Given the description of an element on the screen output the (x, y) to click on. 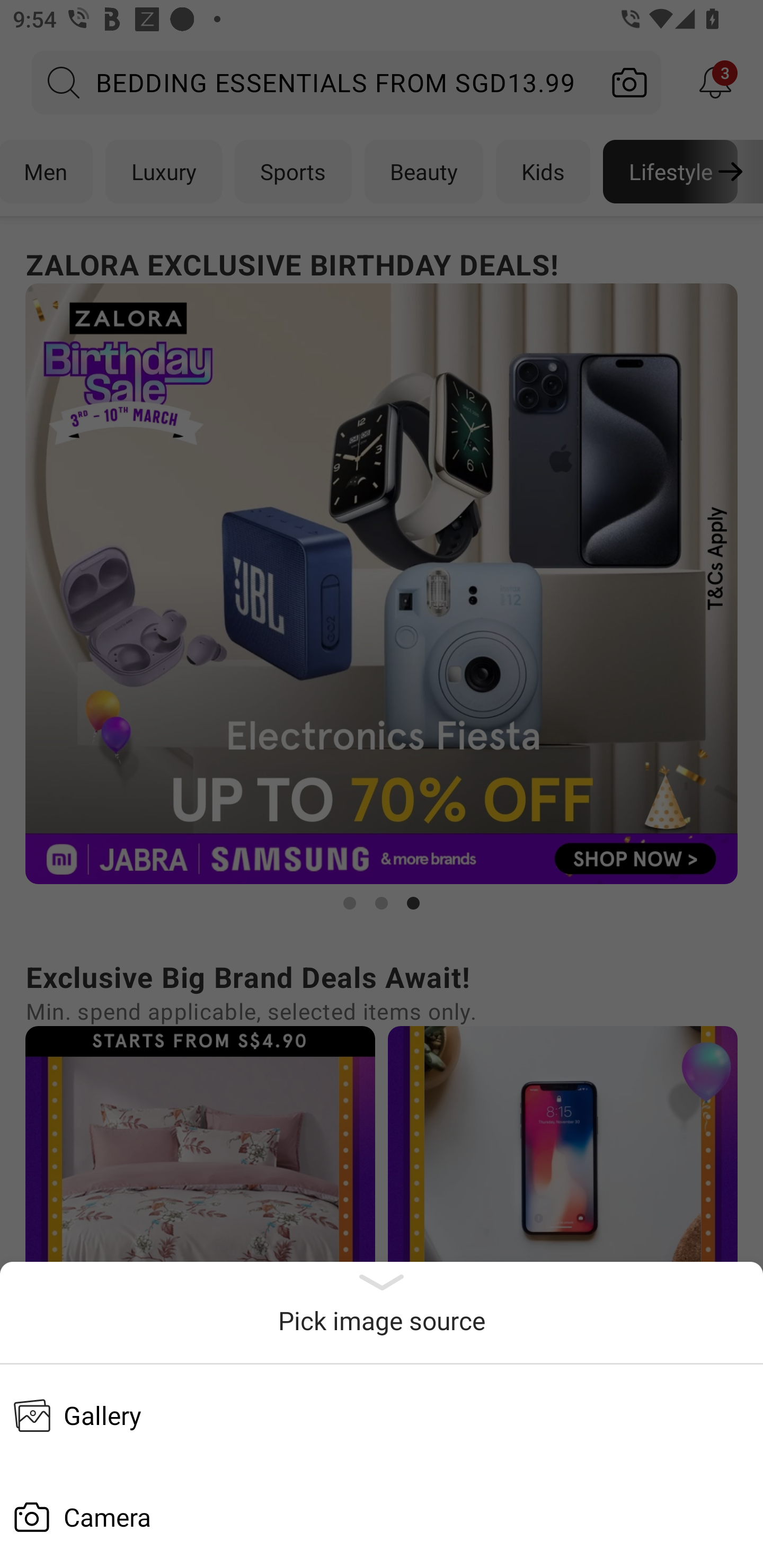
Gallery (381, 1415)
Camera (381, 1517)
